Given the description of an element on the screen output the (x, y) to click on. 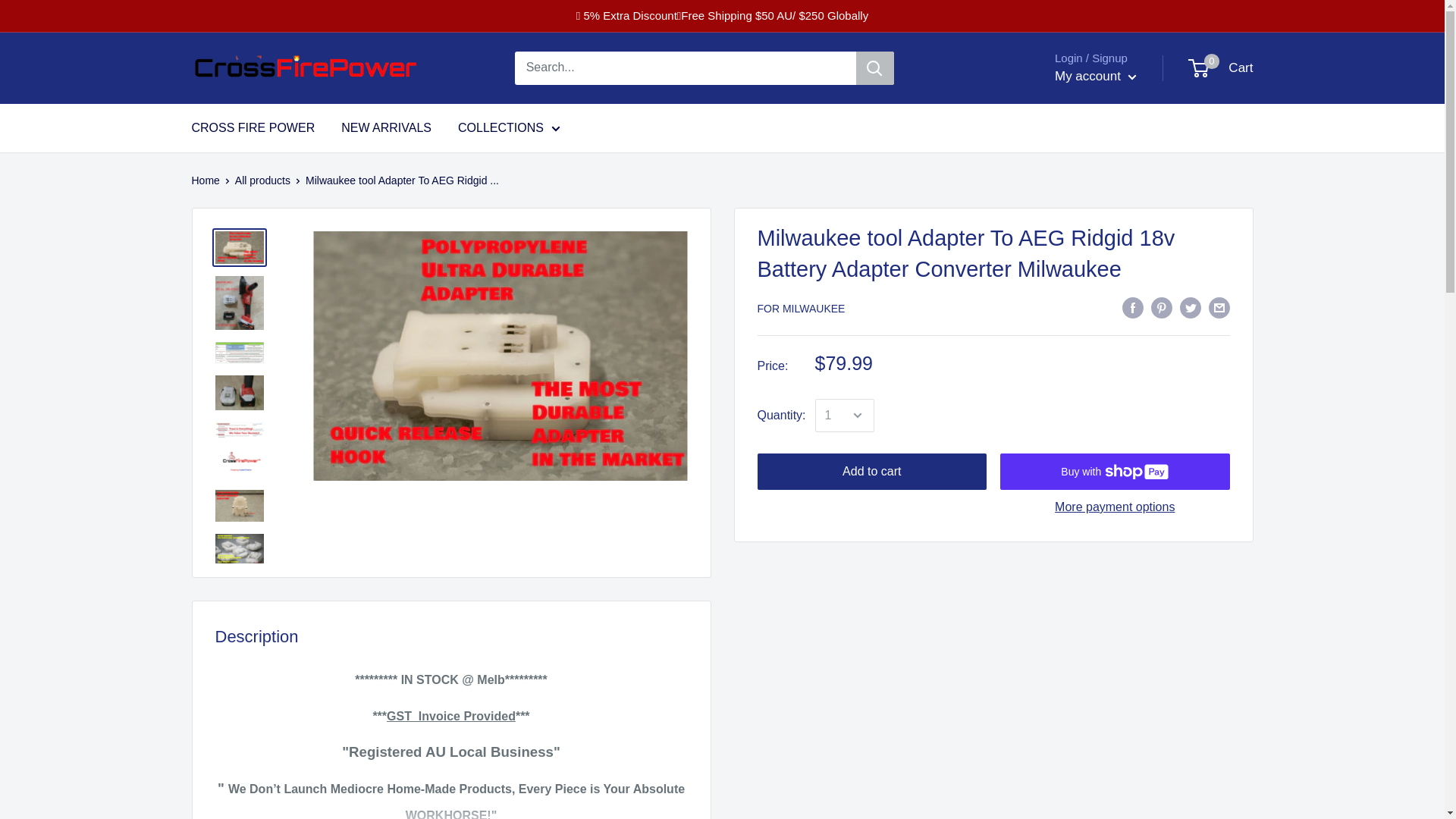
My account (1095, 76)
COLLECTIONS (509, 128)
NEW ARRIVALS (1221, 68)
CROSS FIRE POWER (385, 128)
